Given the description of an element on the screen output the (x, y) to click on. 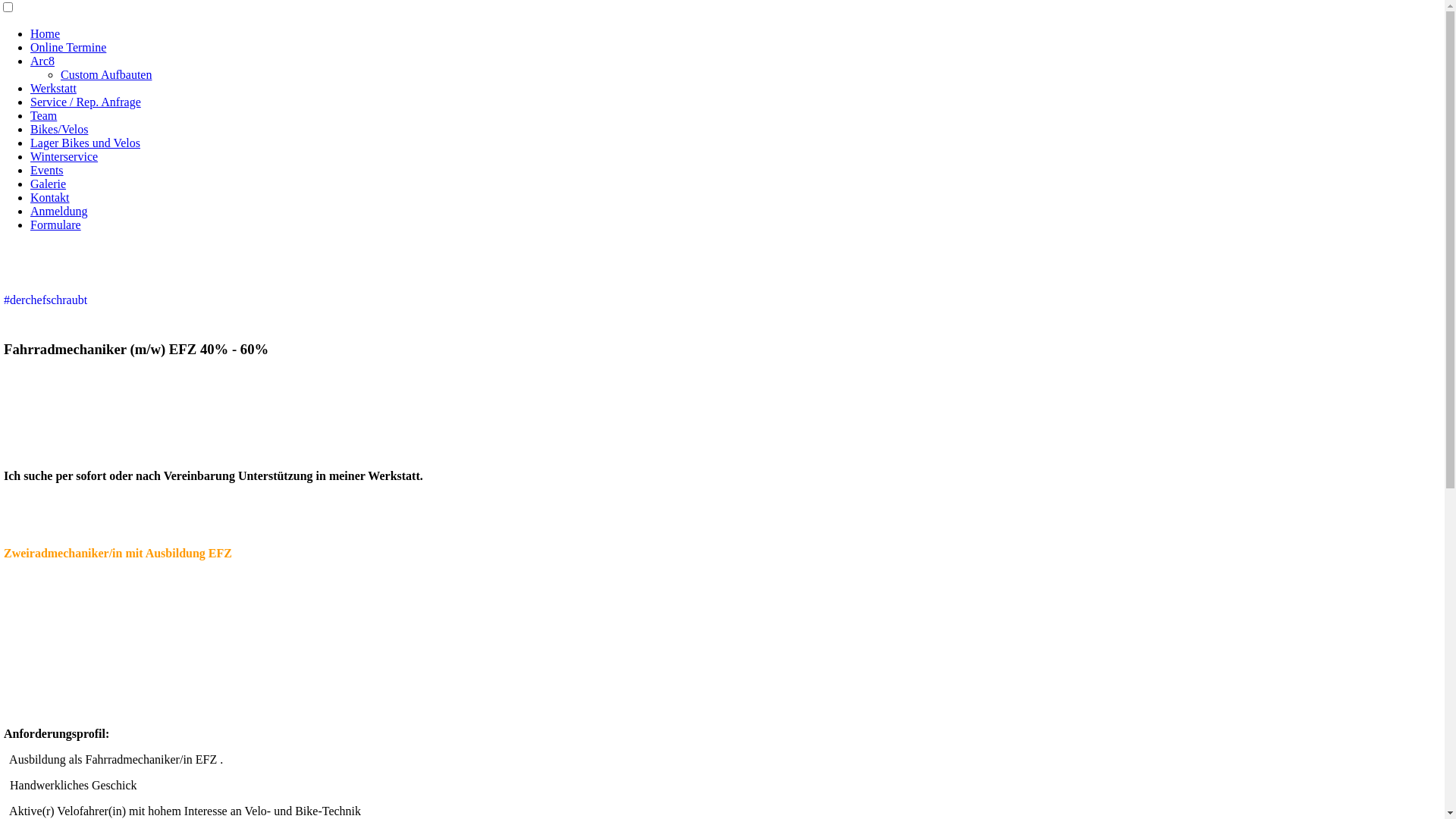
Service / Rep. Anfrage Element type: text (85, 101)
Online Termine Element type: text (68, 46)
Events Element type: text (46, 169)
Winterservice Element type: text (63, 156)
Galerie Element type: text (47, 183)
Home Element type: text (44, 33)
Anmeldung Element type: text (58, 210)
Werkstatt Element type: text (53, 87)
Custom Aufbauten Element type: text (105, 74)
Bikes/Velos Element type: text (58, 128)
#derchefschraubt Element type: text (45, 299)
Team Element type: text (43, 115)
Formulare Element type: text (55, 224)
Kontakt Element type: text (49, 197)
Arc8 Element type: text (42, 60)
Lager Bikes und Velos Element type: text (85, 142)
